Given the description of an element on the screen output the (x, y) to click on. 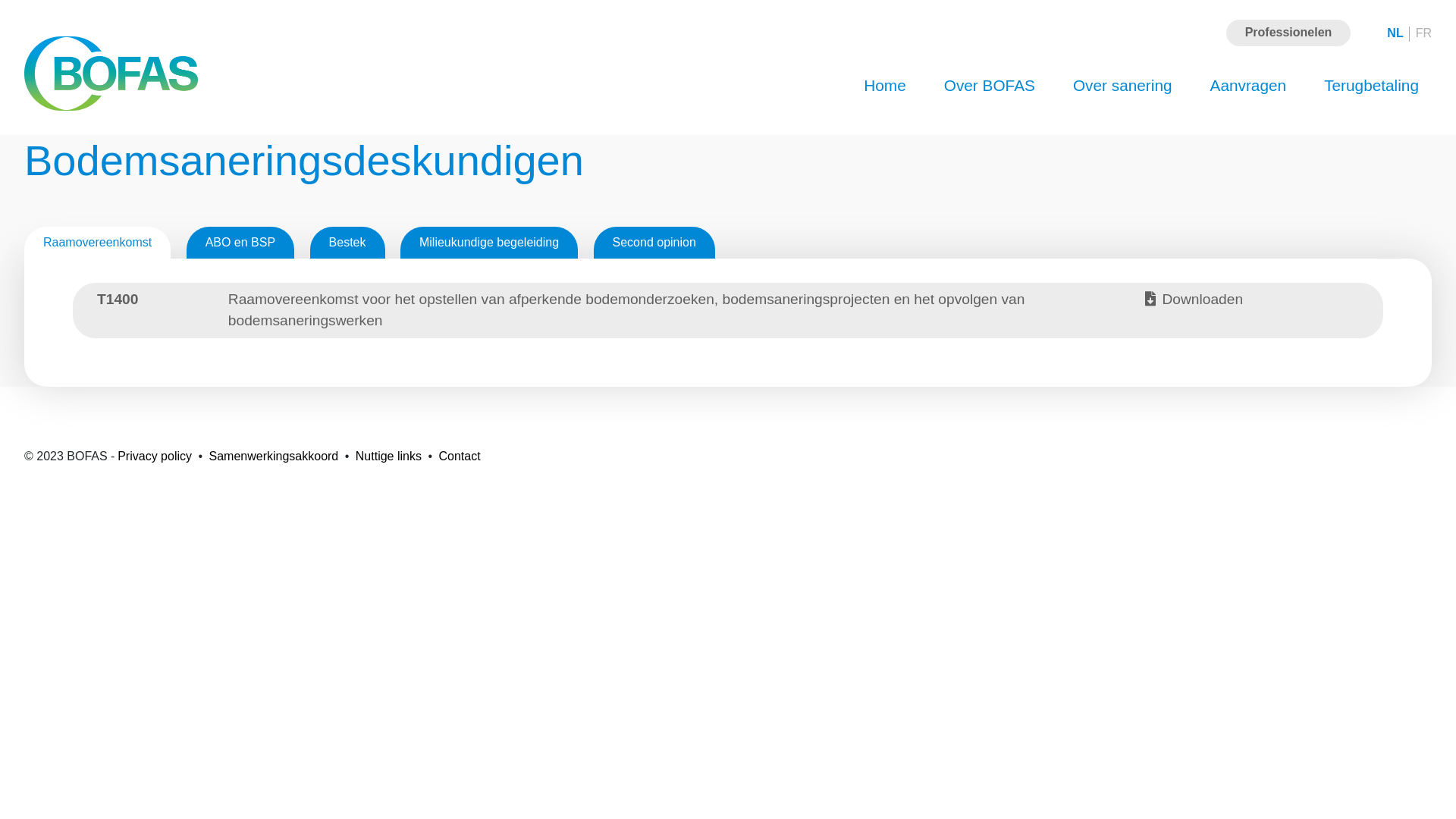
FR Element type: text (1423, 32)
Terugbetaling Element type: text (1371, 84)
Nuttige links Element type: text (389, 456)
Overslaan en naar de inhoud gaan Element type: text (0, 0)
Samenwerkingsakkoord Element type: text (275, 456)
Second opinion Element type: text (654, 242)
Contact Element type: text (460, 456)
ABO en BSP Element type: text (240, 242)
Over sanering Element type: text (1122, 84)
Bestek Element type: text (347, 242)
Privacy policy Element type: text (155, 456)
NL Element type: text (1394, 32)
Milieukundige begeleiding Element type: text (488, 242)
Downloaden Element type: text (1251, 310)
Professionelen Element type: text (1288, 33)
Over BOFAS Element type: text (989, 84)
Raamovereenkomst Element type: text (97, 242)
Aanvragen Element type: text (1248, 84)
Home Element type: text (884, 84)
